Given the description of an element on the screen output the (x, y) to click on. 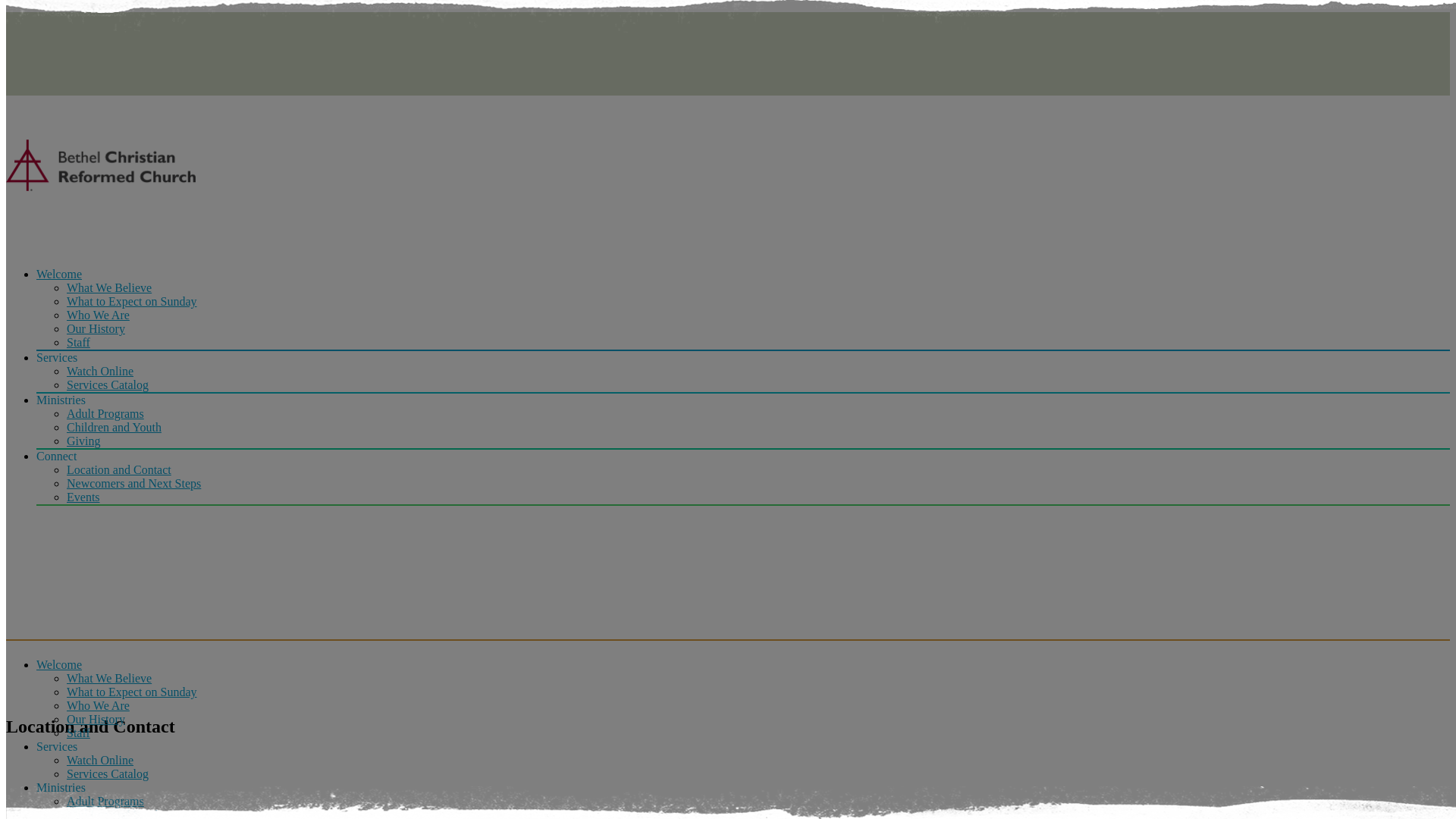
Location and Contact Element type: text (118, 469)
Giving Element type: text (83, 440)
Adult Programs Element type: text (105, 800)
Events Element type: text (83, 496)
Staff Element type: text (78, 341)
Watch Online Element type: text (99, 370)
Connect Element type: text (742, 456)
Newcomers and Next Steps Element type: text (133, 482)
Ministries Element type: text (742, 787)
Email Element type: hover (45, 82)
Services Catalog Element type: text (107, 773)
Staff Element type: text (78, 732)
CONTACT Element type: text (742, 32)
Facebook Element type: hover (45, 60)
Adult Programs Element type: text (105, 413)
Welcome Element type: text (742, 664)
Services Element type: text (742, 357)
What We Believe Element type: text (108, 677)
Watch Online Element type: text (99, 759)
Ministries Element type: text (742, 400)
Services Element type: text (742, 746)
Who We Are Element type: text (97, 705)
Welcome Element type: text (742, 274)
What We Believe Element type: text (108, 287)
COVID-19 UPDATE Element type: text (742, 18)
Services Catalog Element type: text (107, 384)
Our History Element type: text (95, 718)
Who We Are Element type: text (97, 314)
Our History Element type: text (95, 328)
What to Expect on Sunday Element type: text (131, 691)
Children and Youth Element type: text (113, 426)
What to Expect on Sunday Element type: text (131, 300)
